Given the description of an element on the screen output the (x, y) to click on. 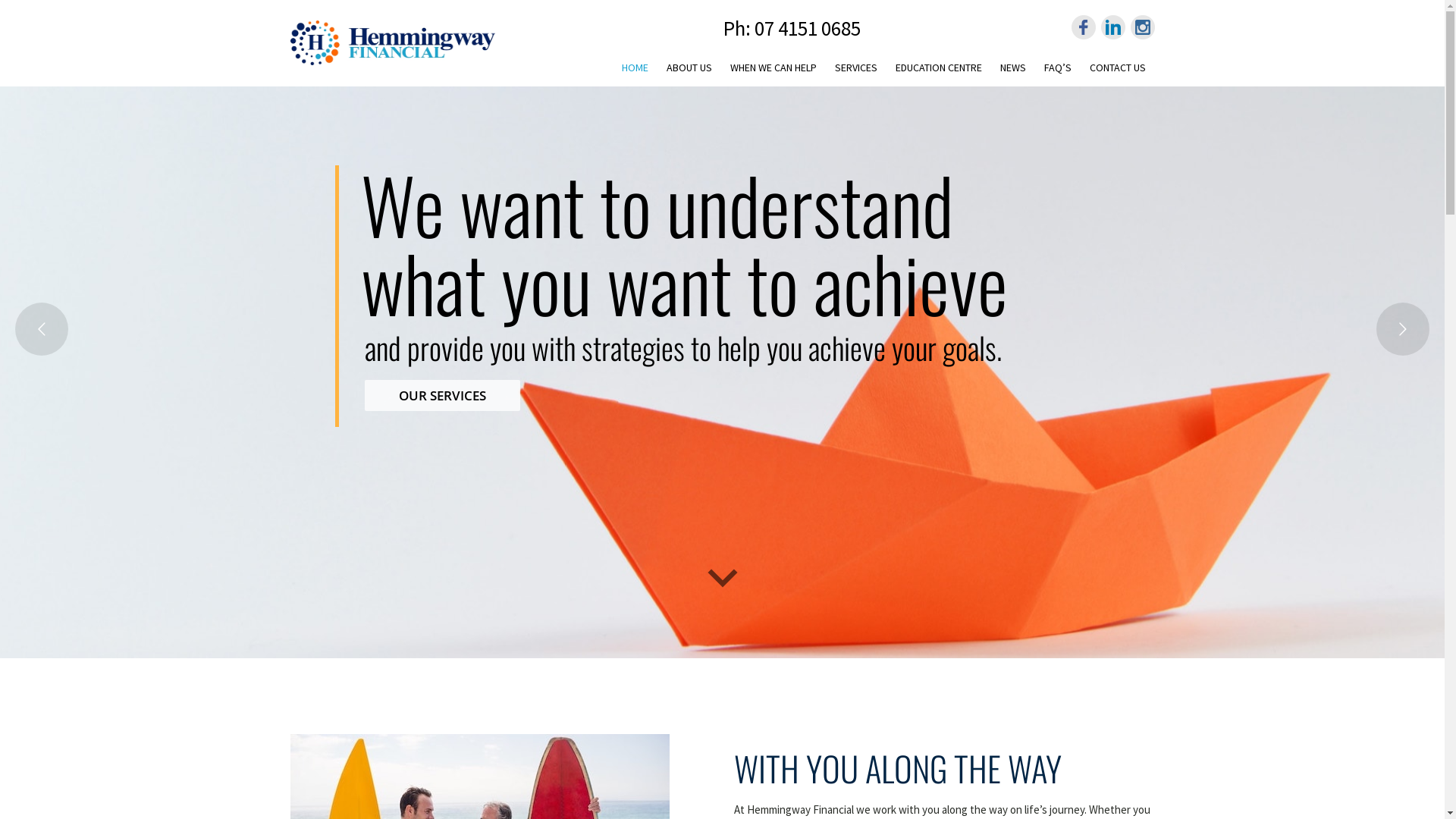
Visit us on LinkedIn Element type: hover (1113, 27)
ABOUT US Element type: text (688, 64)
Visit us on instagram Element type: hover (1141, 27)
SERVICES Element type: text (855, 64)
Hemmingway Financial Element type: hover (391, 41)
EDUCATION CENTRE Element type: text (937, 64)
CONTACT US Element type: text (1116, 64)
WHEN WE CAN HELP Element type: text (772, 64)
HOME Element type: text (634, 67)
NEWS Element type: text (1012, 64)
Visit us on Facebook Element type: hover (1082, 27)
